Given the description of an element on the screen output the (x, y) to click on. 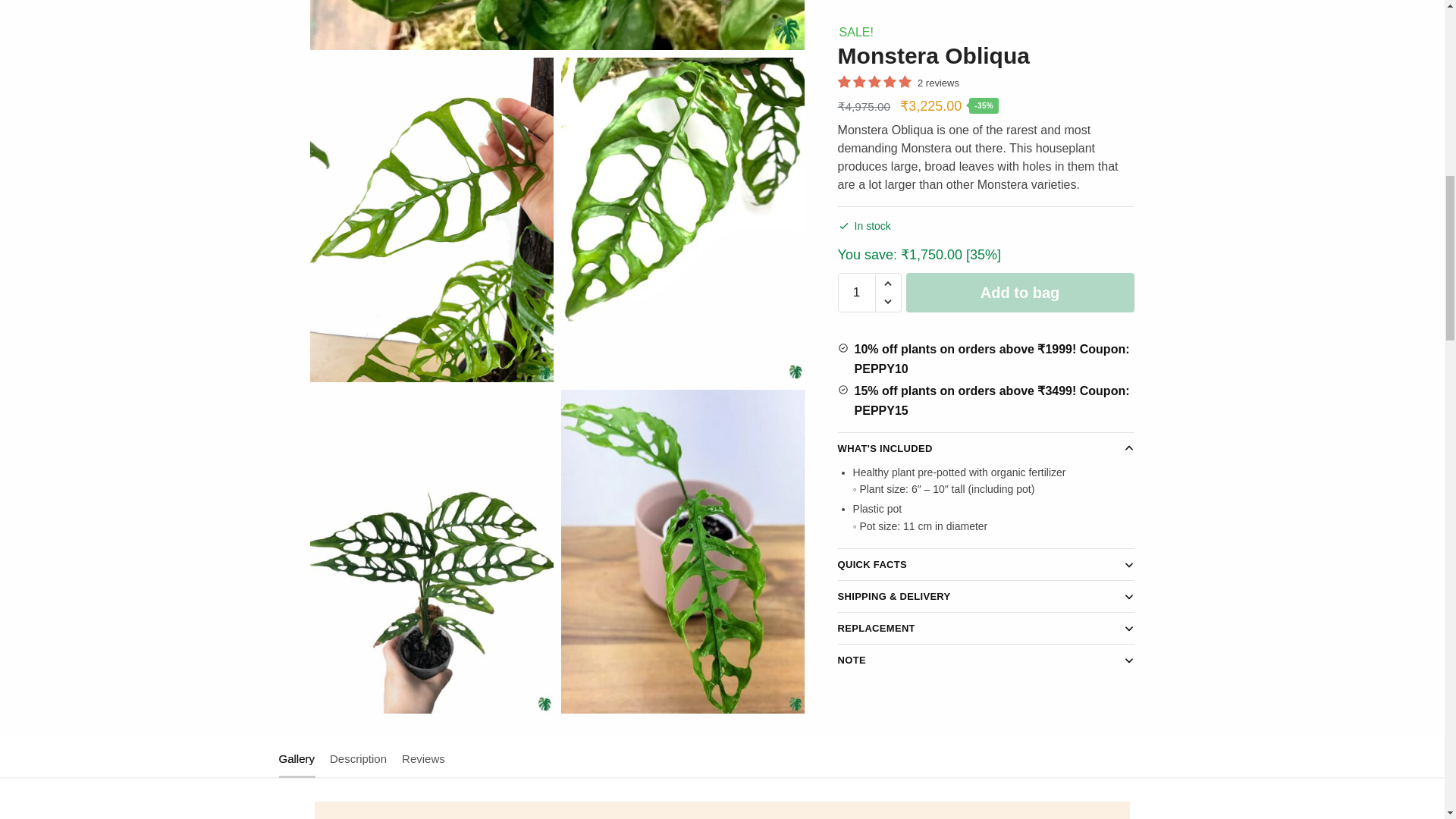
click to zoom-in (557, 24)
